Given the description of an element on the screen output the (x, y) to click on. 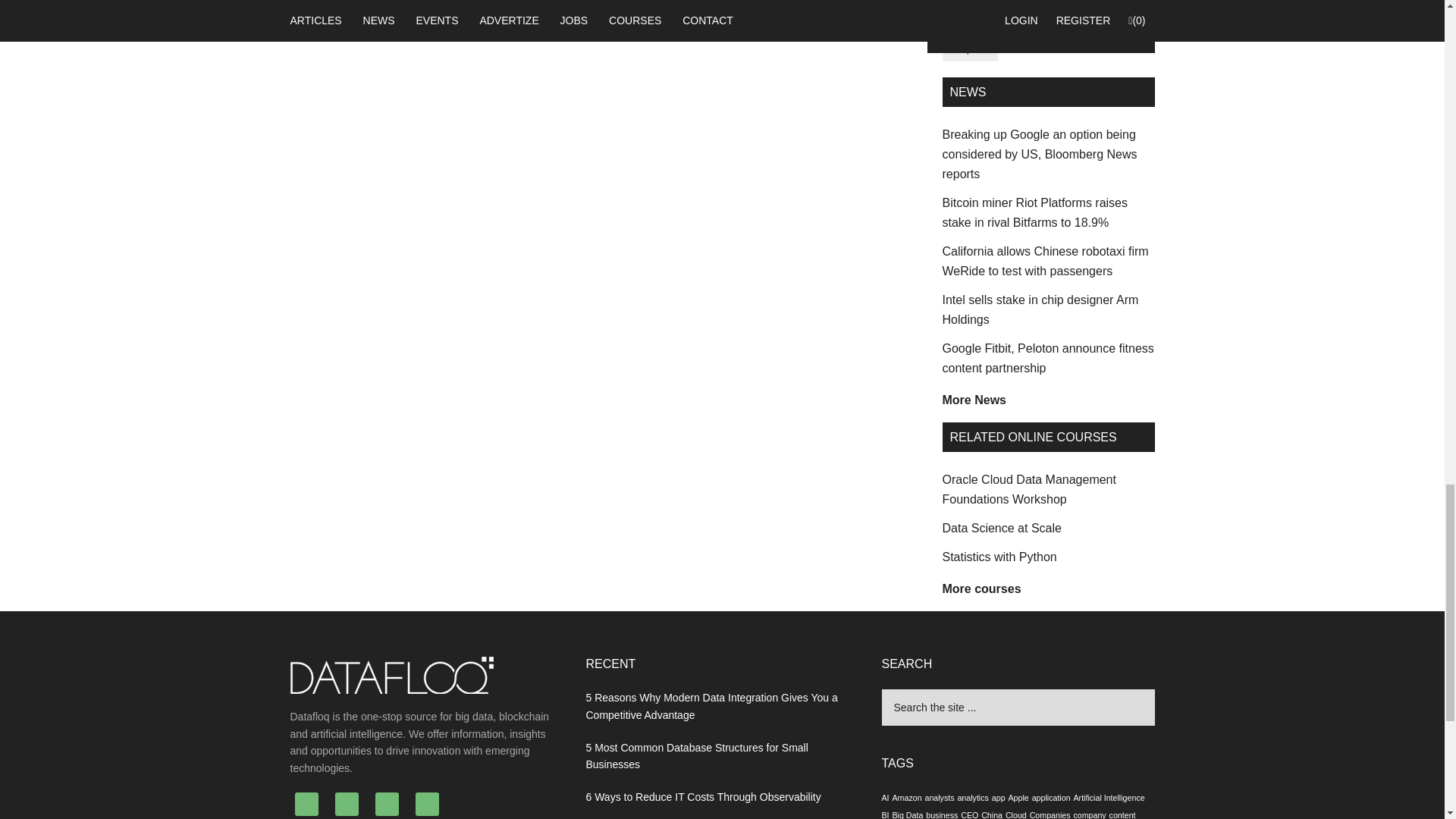
Statistics with Python (999, 556)
Oracle Cloud Data Management Foundations Workshop (1028, 489)
Intel sells stake in chip designer Arm Holdings (1040, 309)
Google Fitbit, Peloton announce fitness content partnership (1047, 358)
Data Science at Scale (1001, 527)
